Given the description of an element on the screen output the (x, y) to click on. 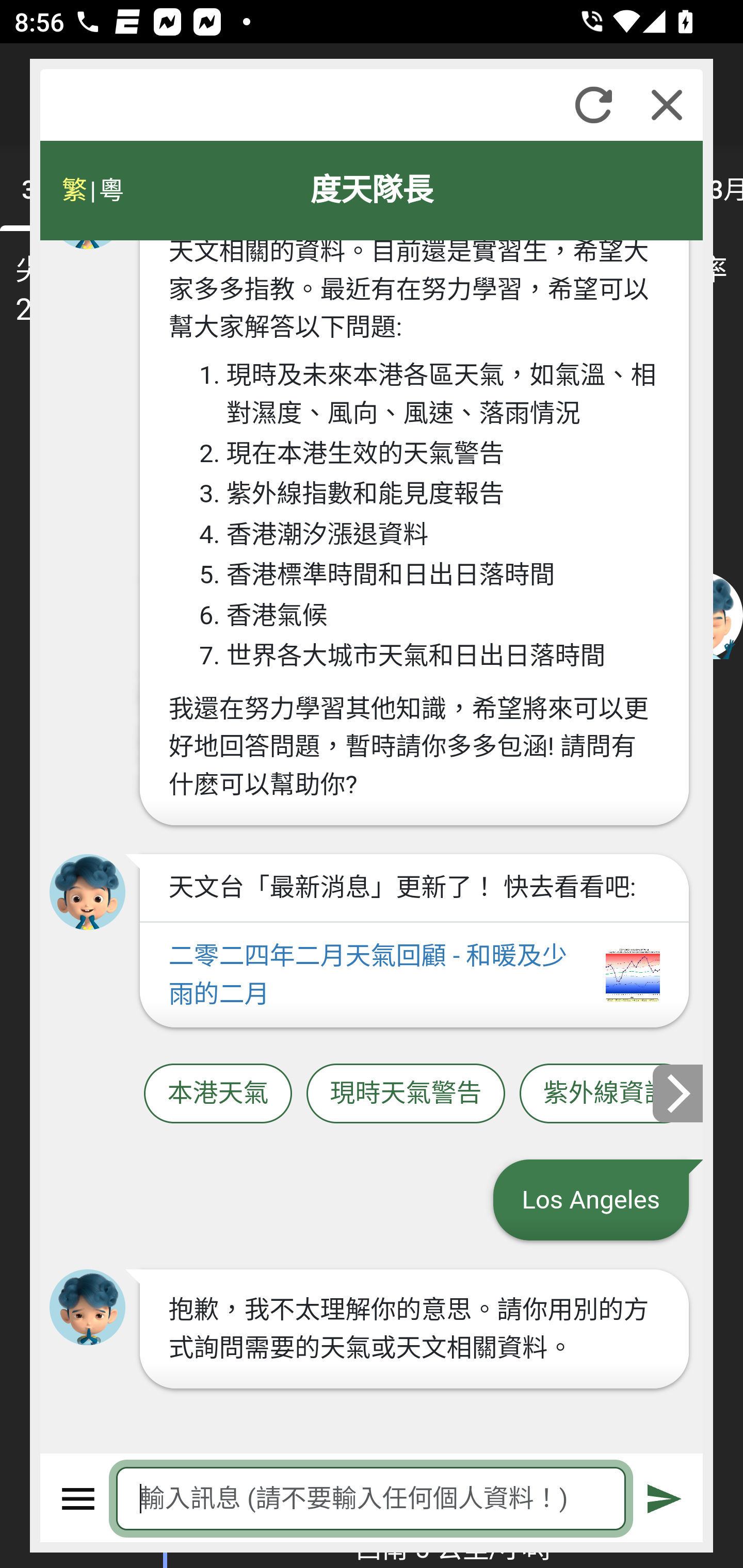
重新整理 (593, 104)
關閉 (666, 104)
繁 (73, 190)
粵 (110, 190)
二零二四年二月天氣回顧 - 和暖及少雨的二月 (413, 974)
本港天氣 (217, 1093)
現時天氣警告 (405, 1093)
紫外線資訊 (605, 1093)
下一張 (678, 1092)
選單 (78, 1498)
遞交 (665, 1498)
